Given the description of an element on the screen output the (x, y) to click on. 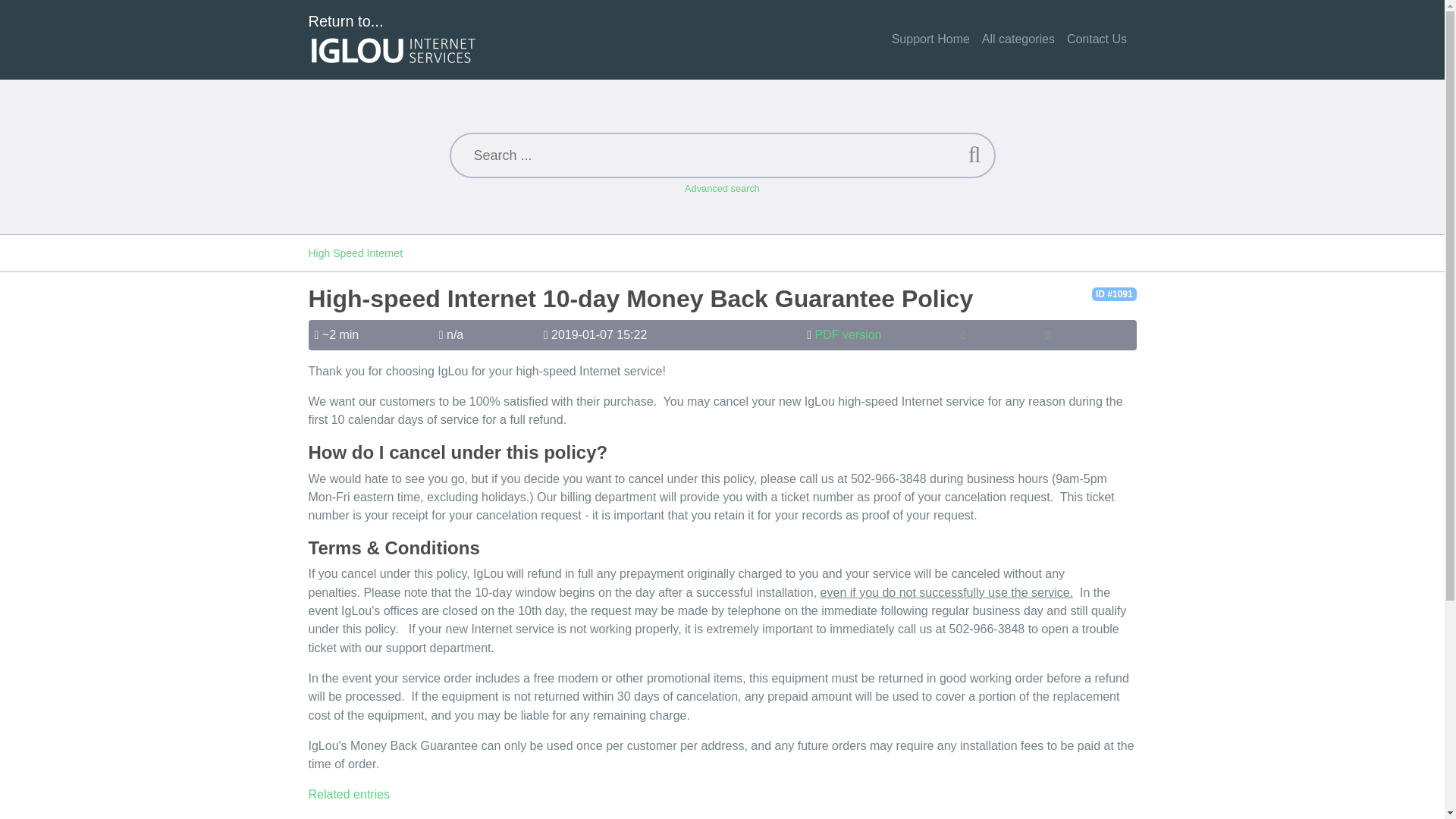
Support Home (930, 39)
Contact Us (1096, 39)
All categories (1018, 39)
Return to... (393, 38)
PDF version (846, 334)
PDF version (846, 334)
Related entries (348, 793)
High Speed Internet (355, 253)
Advanced search (722, 188)
